Given the description of an element on the screen output the (x, y) to click on. 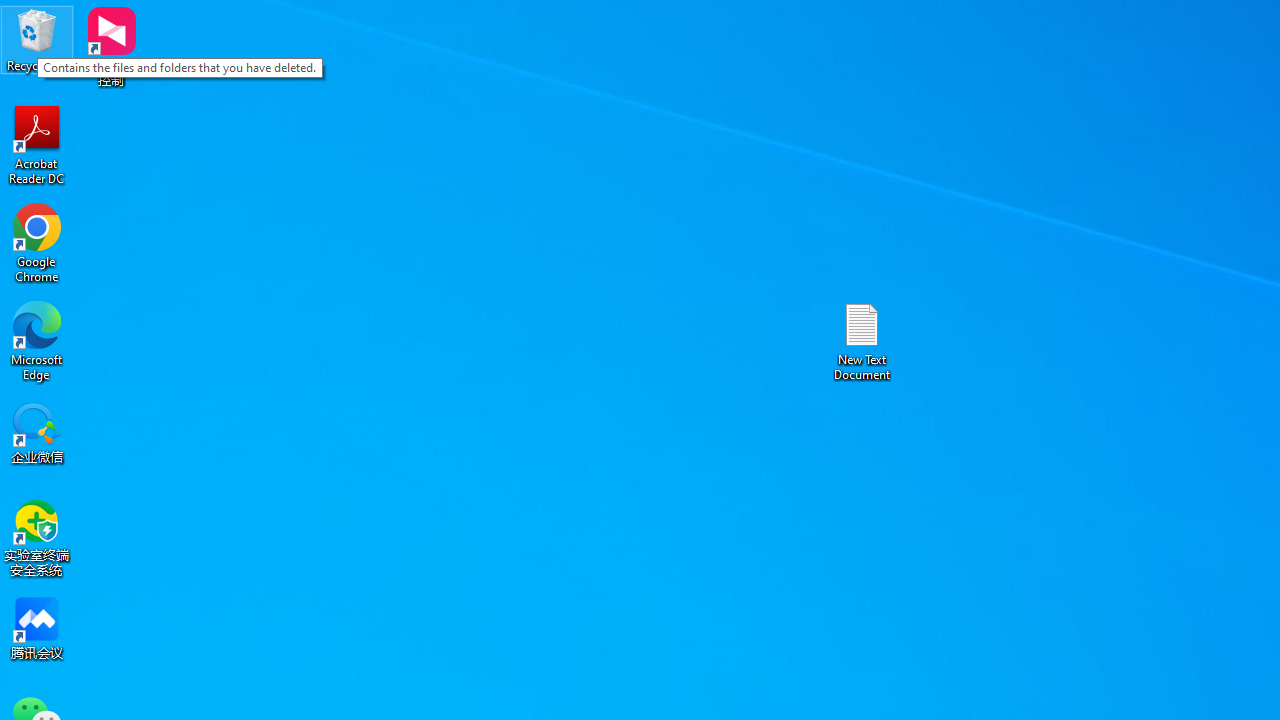
Acrobat Reader DC (37, 144)
Microsoft Edge (37, 340)
Google Chrome (37, 242)
Recycle Bin (37, 39)
New Text Document (861, 340)
